Given the description of an element on the screen output the (x, y) to click on. 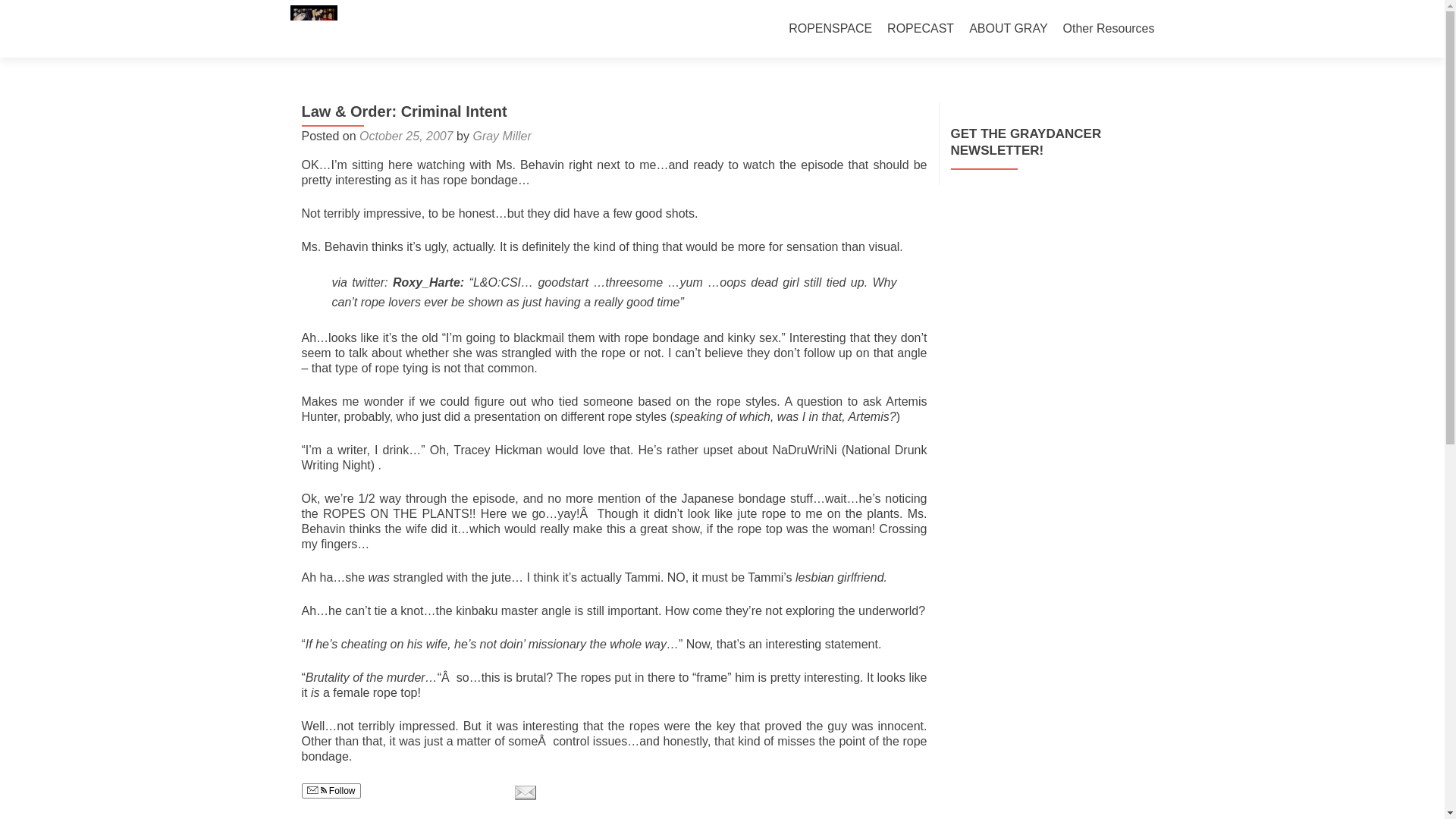
ROPENSPACE (830, 28)
Email, RSS (315, 791)
Email (525, 792)
Share on Tumblr (475, 791)
Other Resources (1108, 28)
October 25, 2007 (405, 135)
Follow (331, 790)
Share on Tumblr (475, 791)
Gray Miller (501, 135)
ROPECAST (919, 28)
ABOUT GRAY (1007, 28)
